Given the description of an element on the screen output the (x, y) to click on. 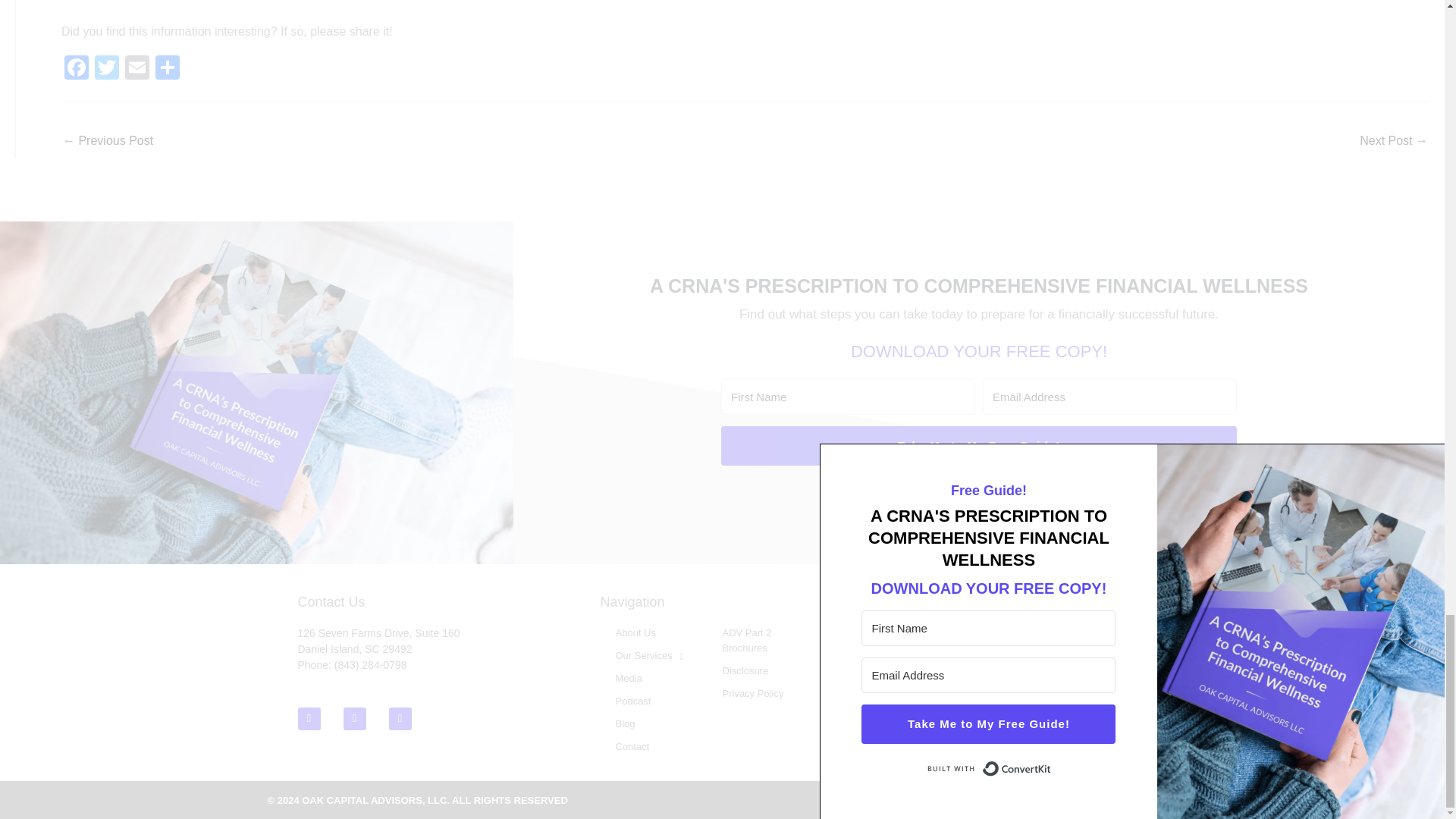
Linkedin (308, 718)
Twitter (106, 69)
Twitter (399, 718)
Contact Us (331, 601)
Facebook (76, 69)
Share (167, 69)
About Us (653, 632)
Facebook (76, 69)
Twitter (106, 69)
Our Services (653, 655)
Email (137, 69)
Take Me to My Free Guide! (978, 445)
Built with ConvertKit (978, 490)
Facebook (353, 718)
